Given the description of an element on the screen output the (x, y) to click on. 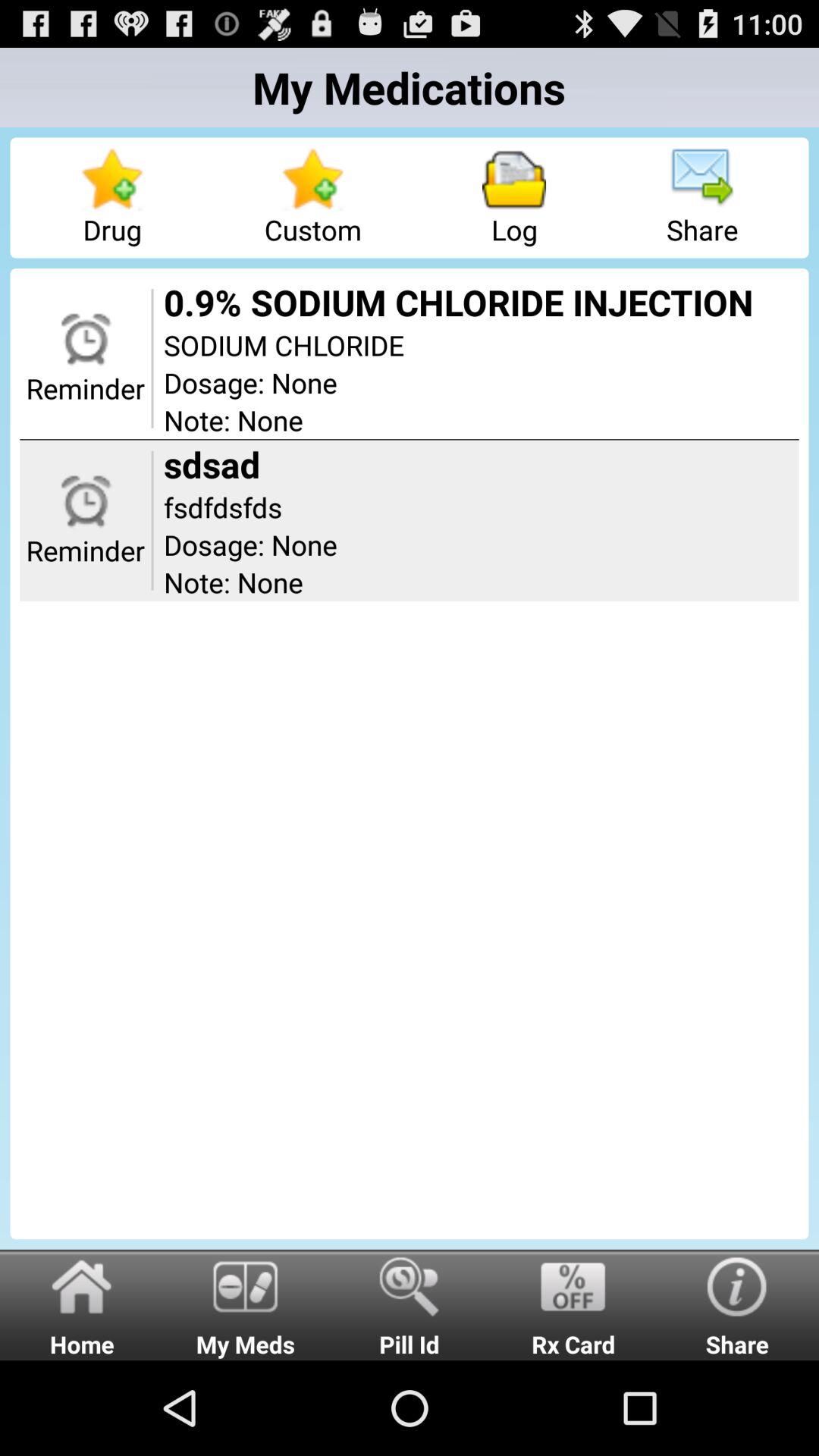
choose home icon (81, 1304)
